Given the description of an element on the screen output the (x, y) to click on. 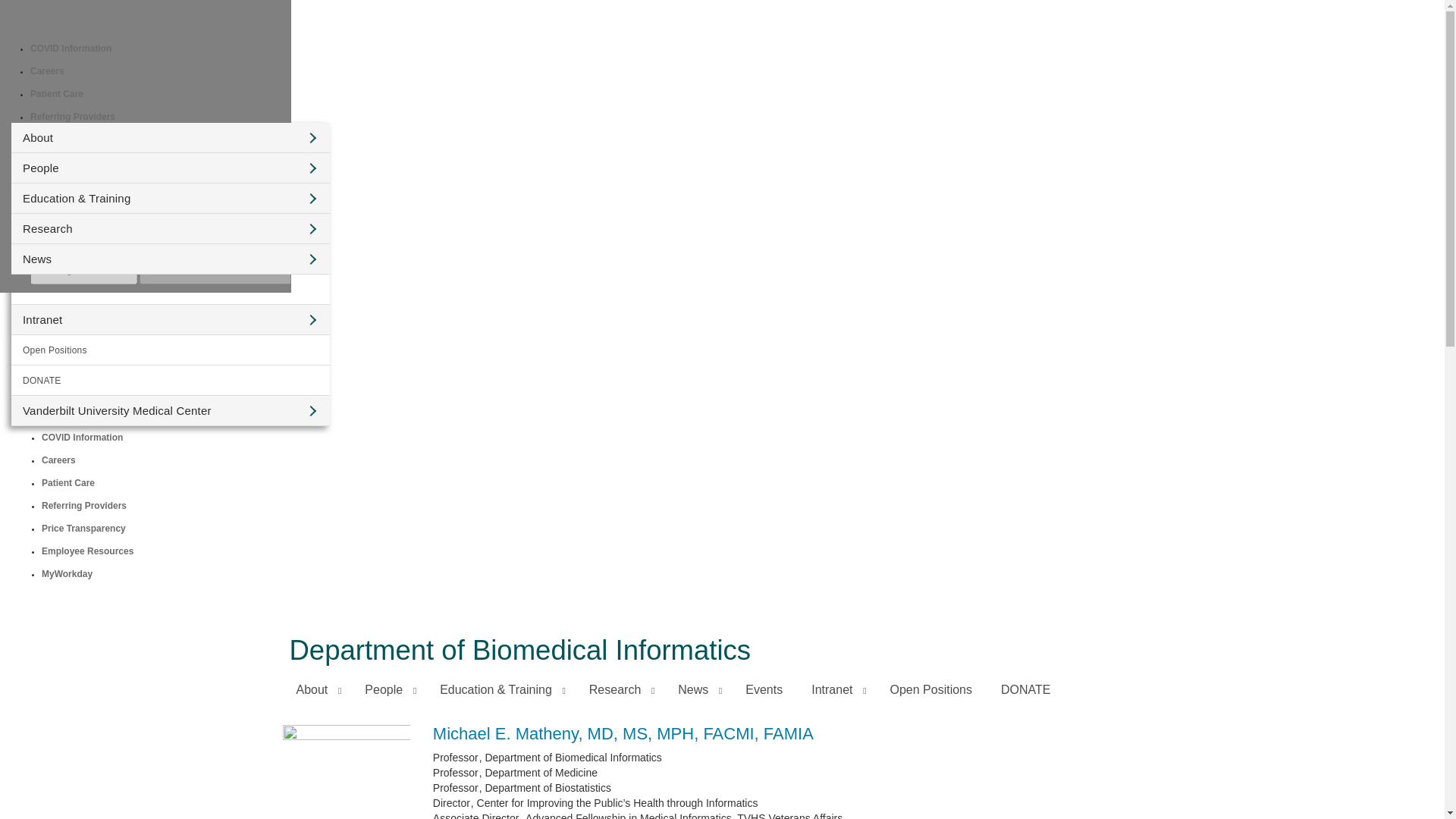
Search (158, 108)
search (40, 208)
close menu (246, 78)
Careers (47, 71)
Patient Care (56, 93)
Search search (202, 81)
MyWorkday (55, 184)
Referring Providers (72, 116)
search (216, 78)
open menu (246, 33)
